Given the description of an element on the screen output the (x, y) to click on. 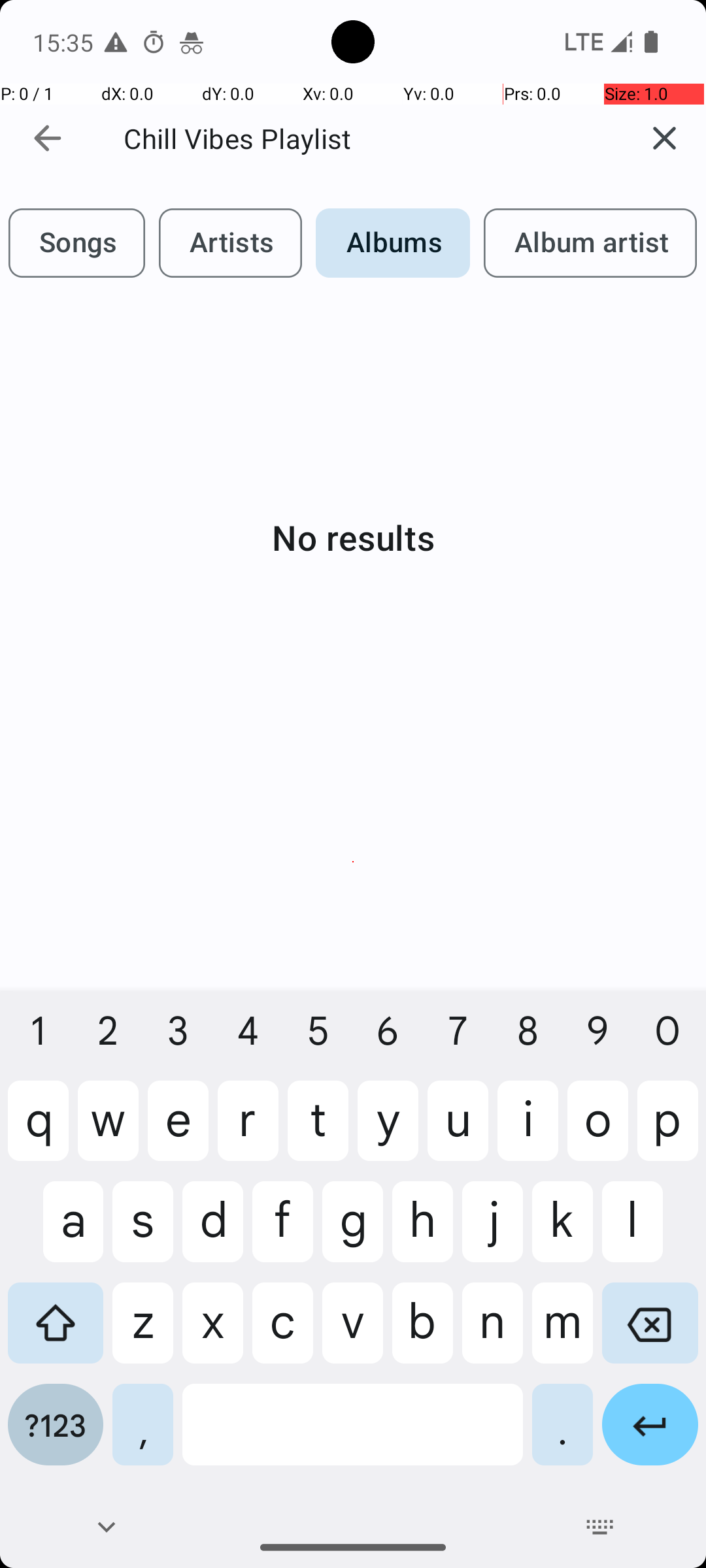
Chill Vibes Playlist Element type: android.widget.EditText (359, 137)
No results Element type: android.widget.TextView (352, 537)
Album artist Element type: android.widget.RadioButton (589, 242)
